Given the description of an element on the screen output the (x, y) to click on. 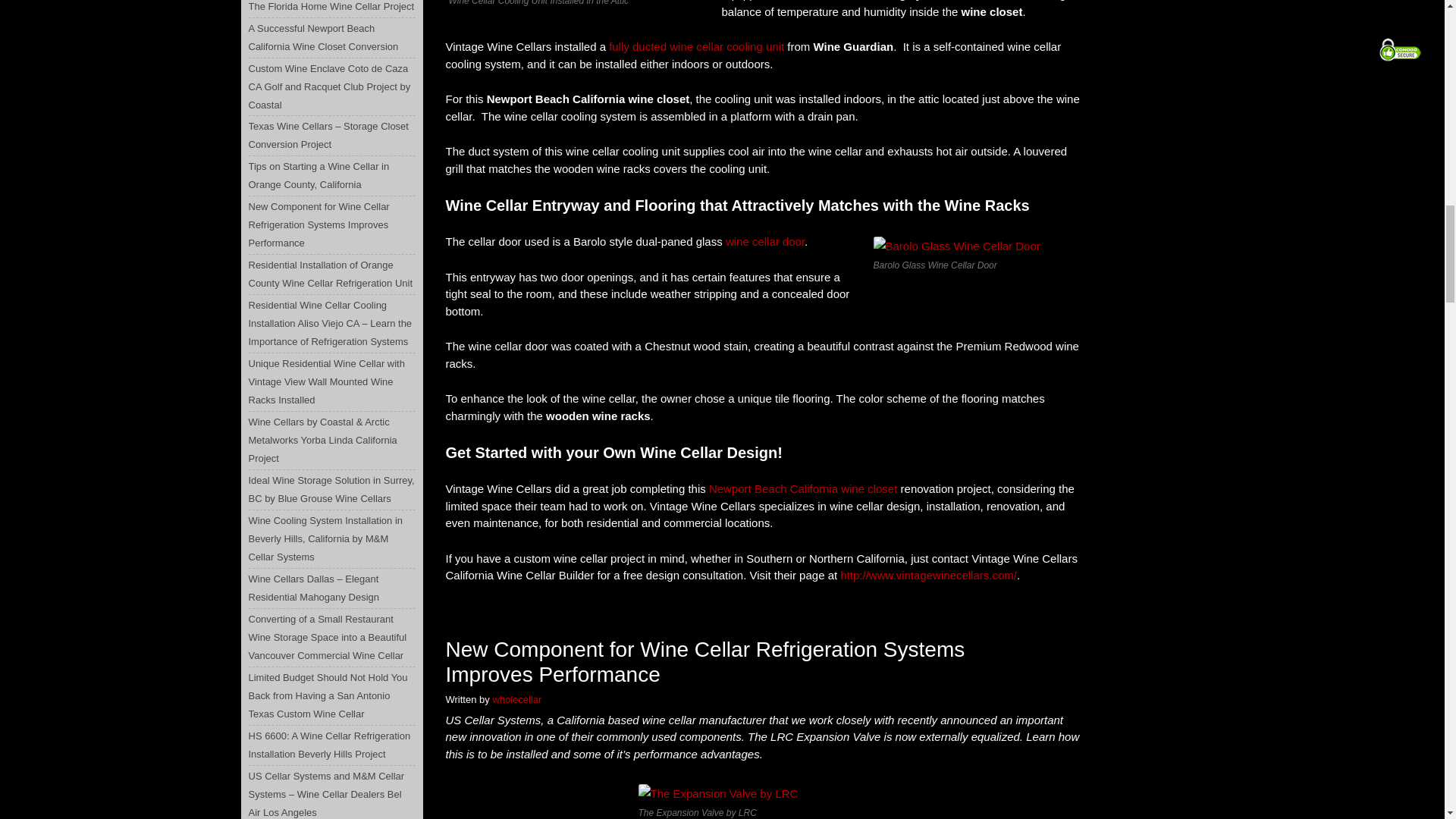
Learn some tips in building a wine cellar. Click here. (765, 241)
